Given the description of an element on the screen output the (x, y) to click on. 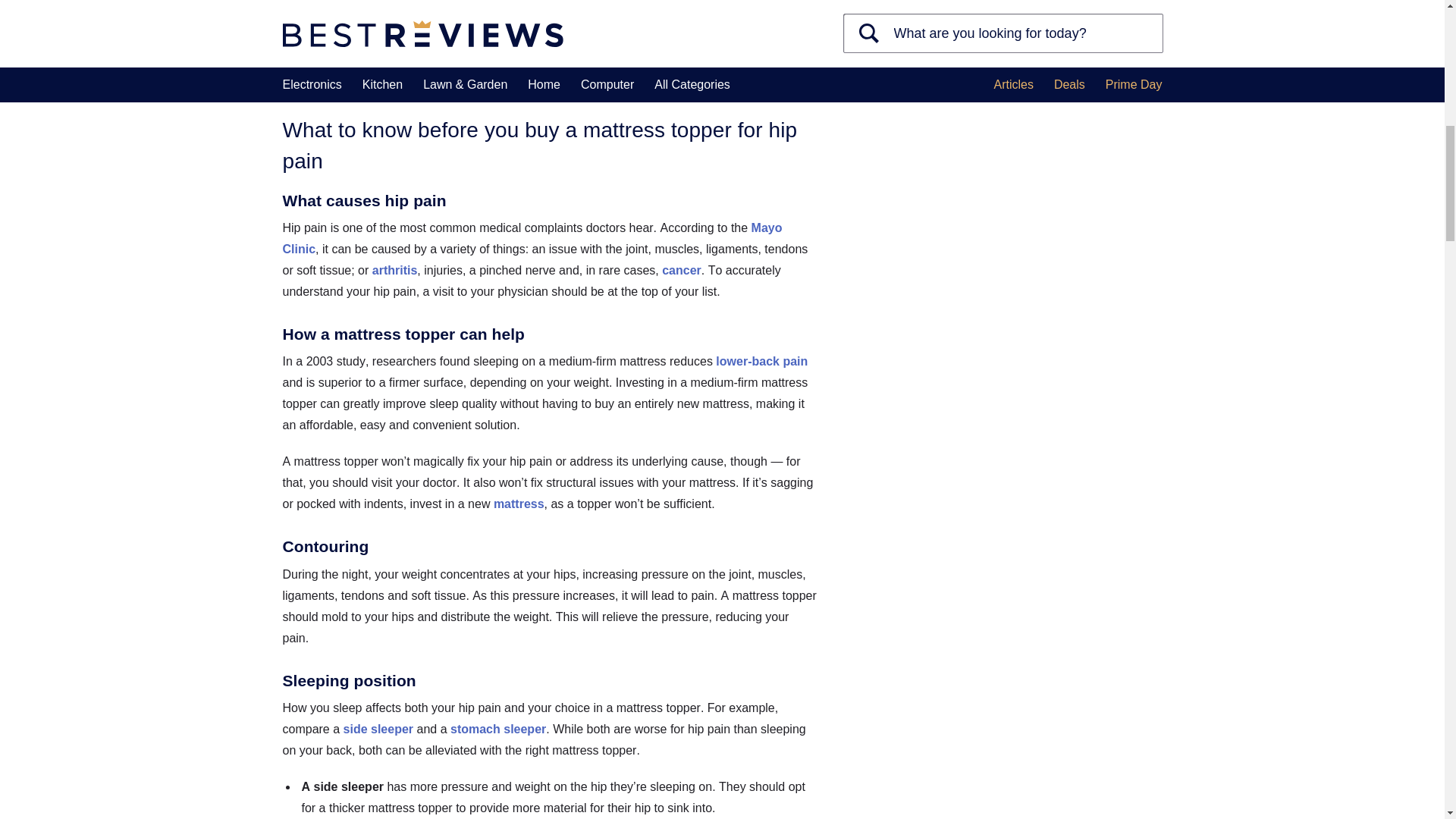
side sleeper (378, 728)
cancer (681, 269)
Pure Green Natural Latex Mattress Topper (610, 81)
mattress (518, 503)
Lucid Ventilated Gel Memory Foam Mattress Topper (531, 70)
arthritis (394, 269)
stomach sleeper (497, 728)
Mayo Clinic (531, 238)
Tempur-Pedic Tempur Supreme Mattress Topper (516, 60)
lower-back pain (762, 360)
